Given the description of an element on the screen output the (x, y) to click on. 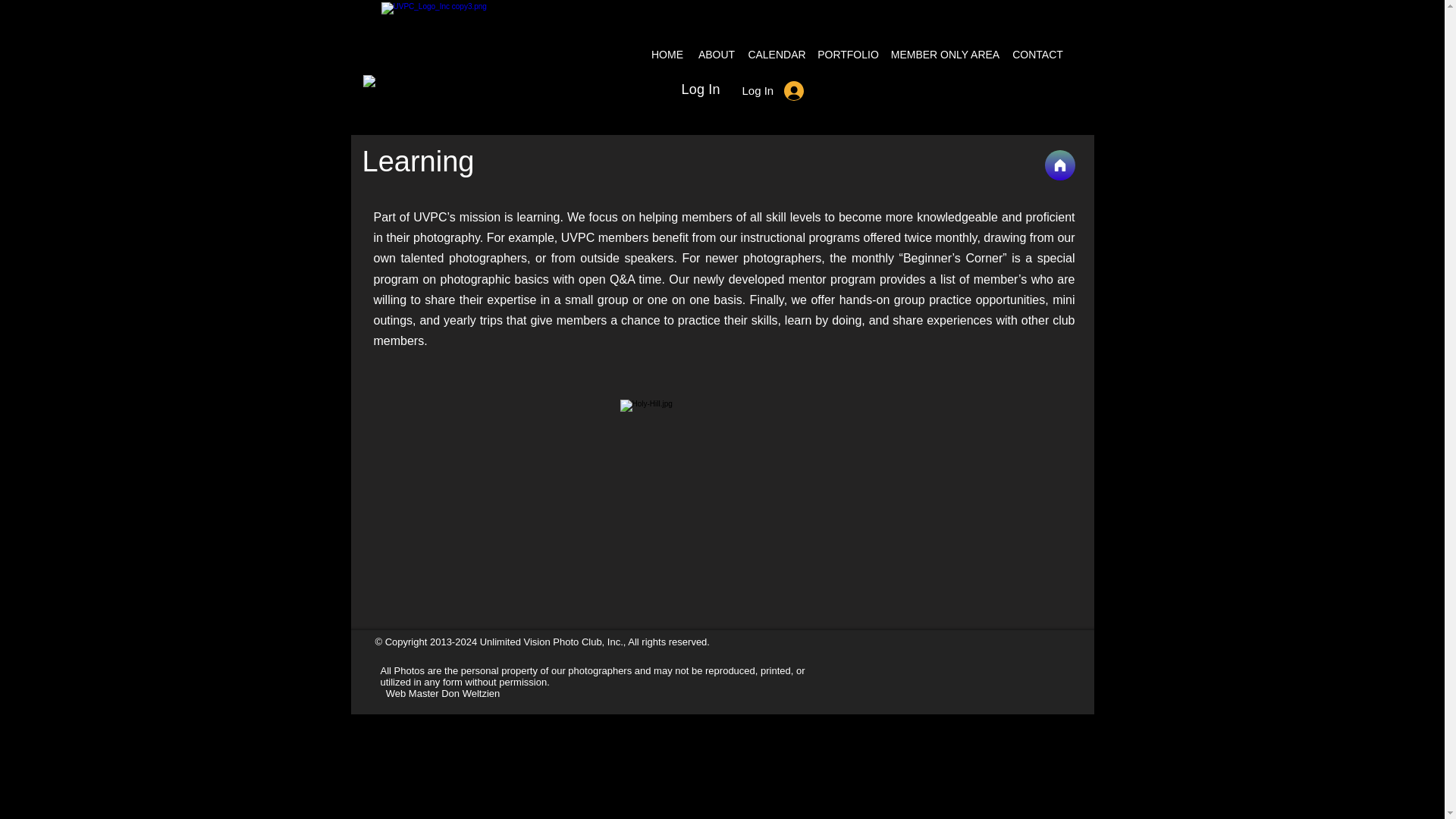
CONTACT (1035, 54)
Log In (771, 90)
ABOUT (716, 54)
CALENDAR (775, 54)
HOME (669, 54)
PORTFOLIO (846, 54)
